Given the description of an element on the screen output the (x, y) to click on. 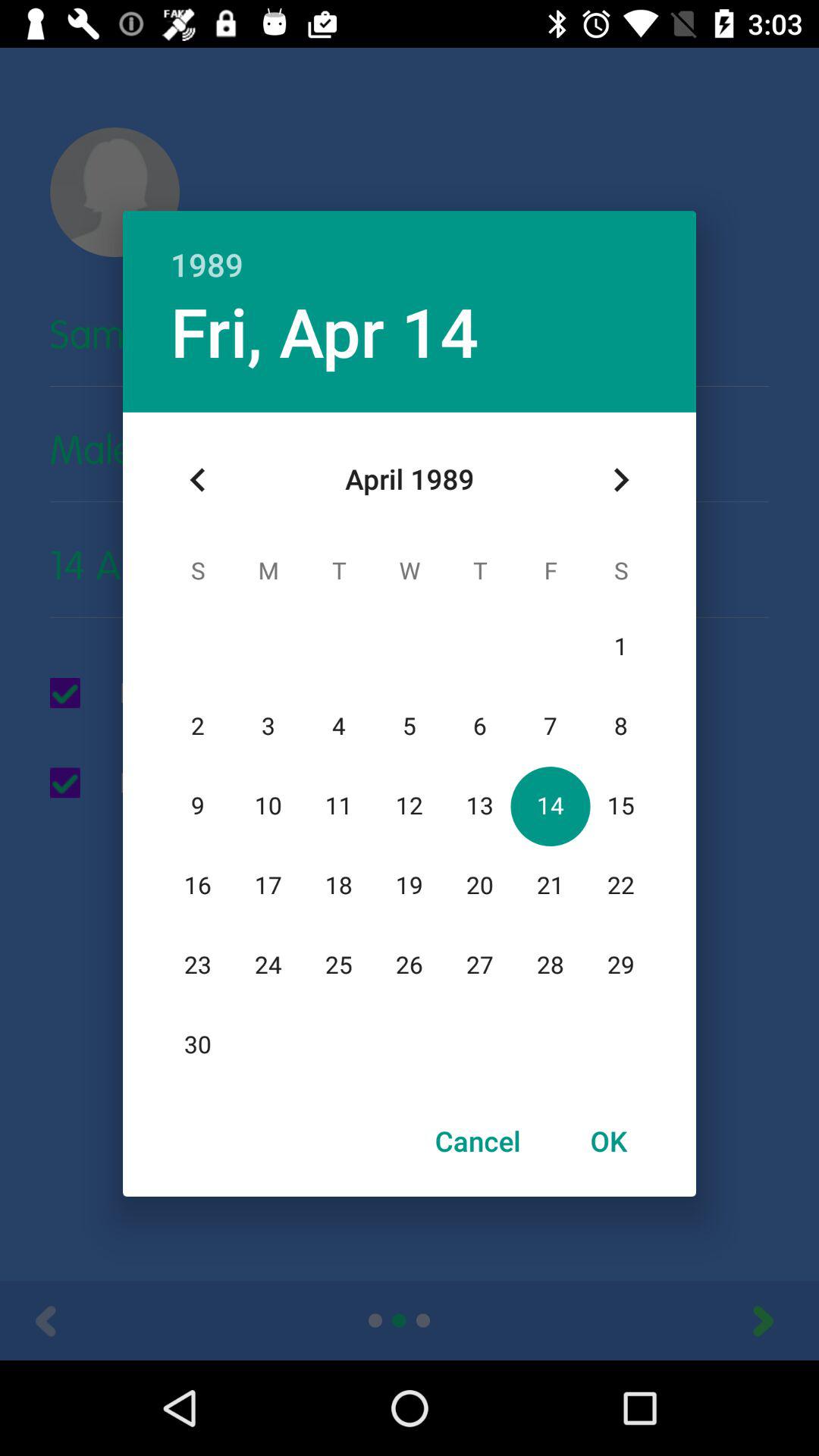
tap the item next to the ok icon (477, 1140)
